Given the description of an element on the screen output the (x, y) to click on. 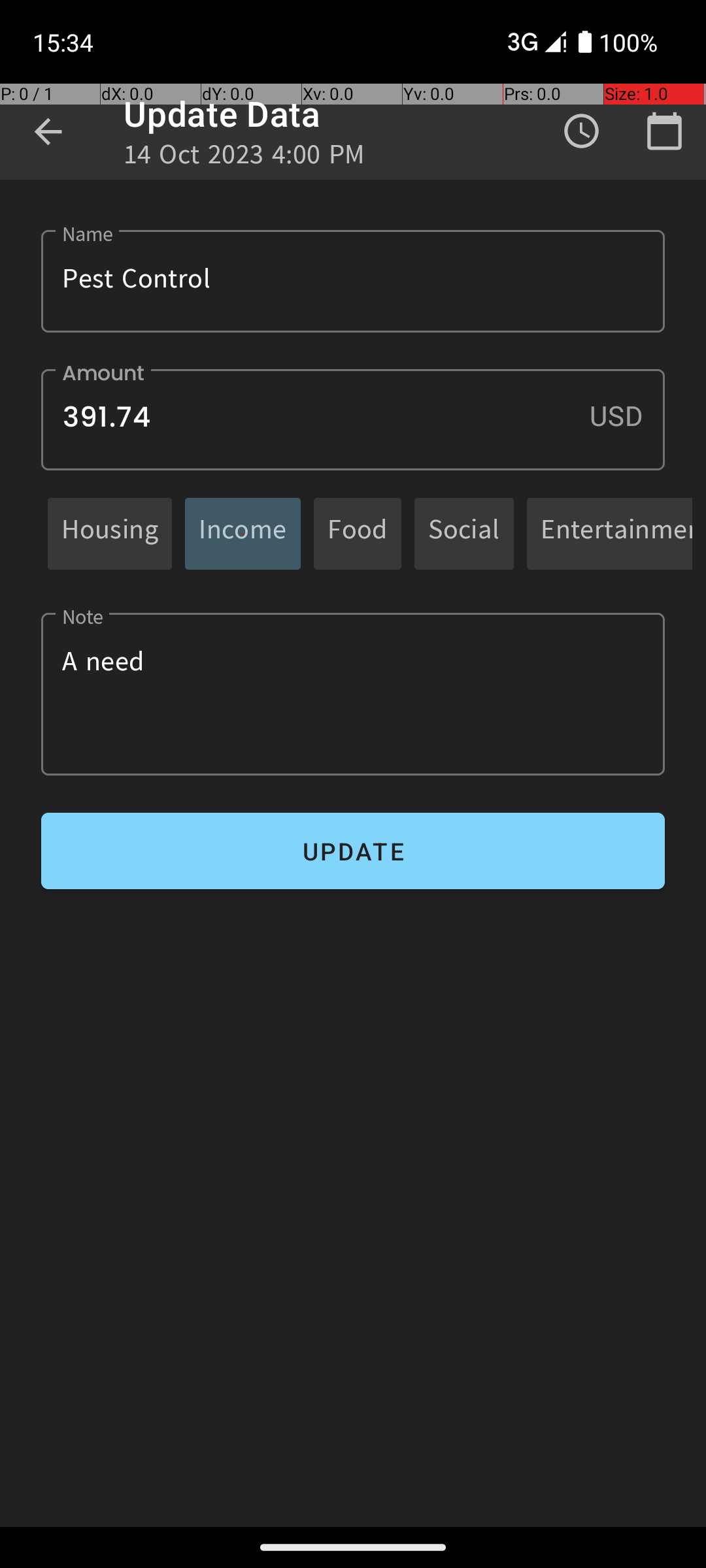
14 Oct 2023 4:00 PM Element type: android.widget.TextView (244, 157)
Pest Control Element type: android.widget.EditText (352, 280)
391.74 Element type: android.widget.EditText (352, 419)
A need Element type: android.widget.EditText (352, 693)
